Given the description of an element on the screen output the (x, y) to click on. 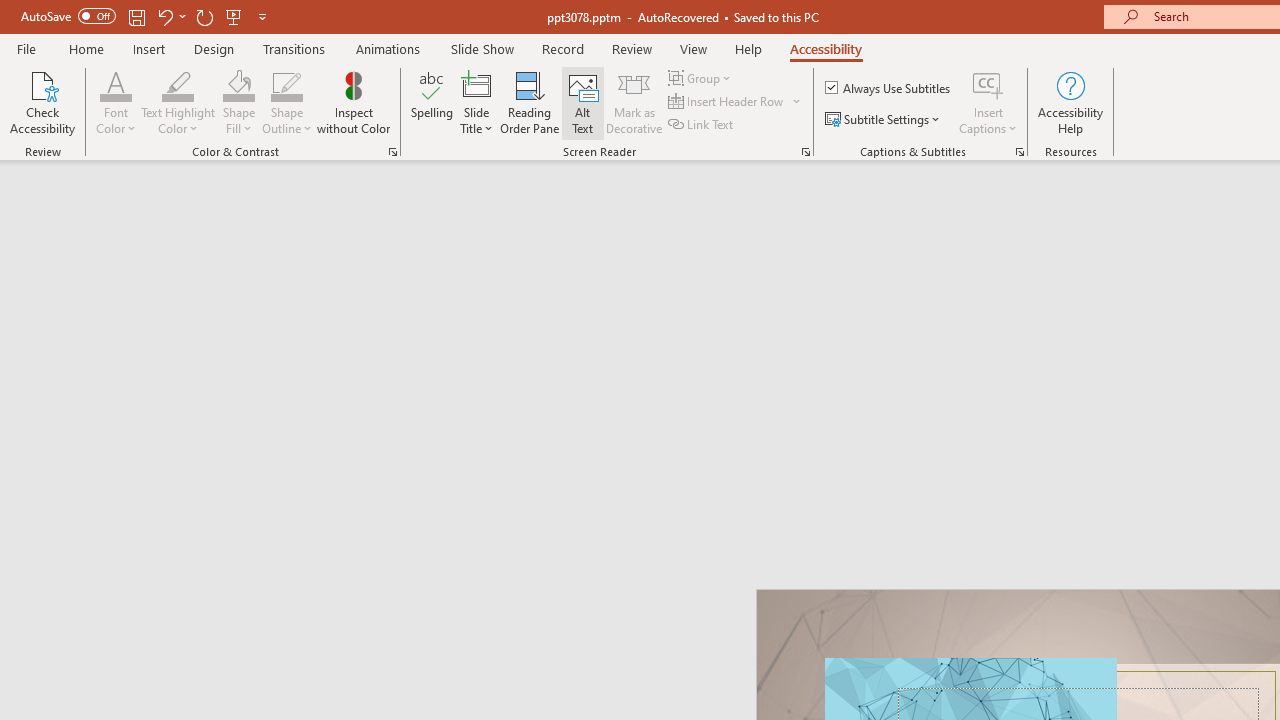
Mark as Decorative (634, 102)
Subtitle Settings (884, 119)
